Given the description of an element on the screen output the (x, y) to click on. 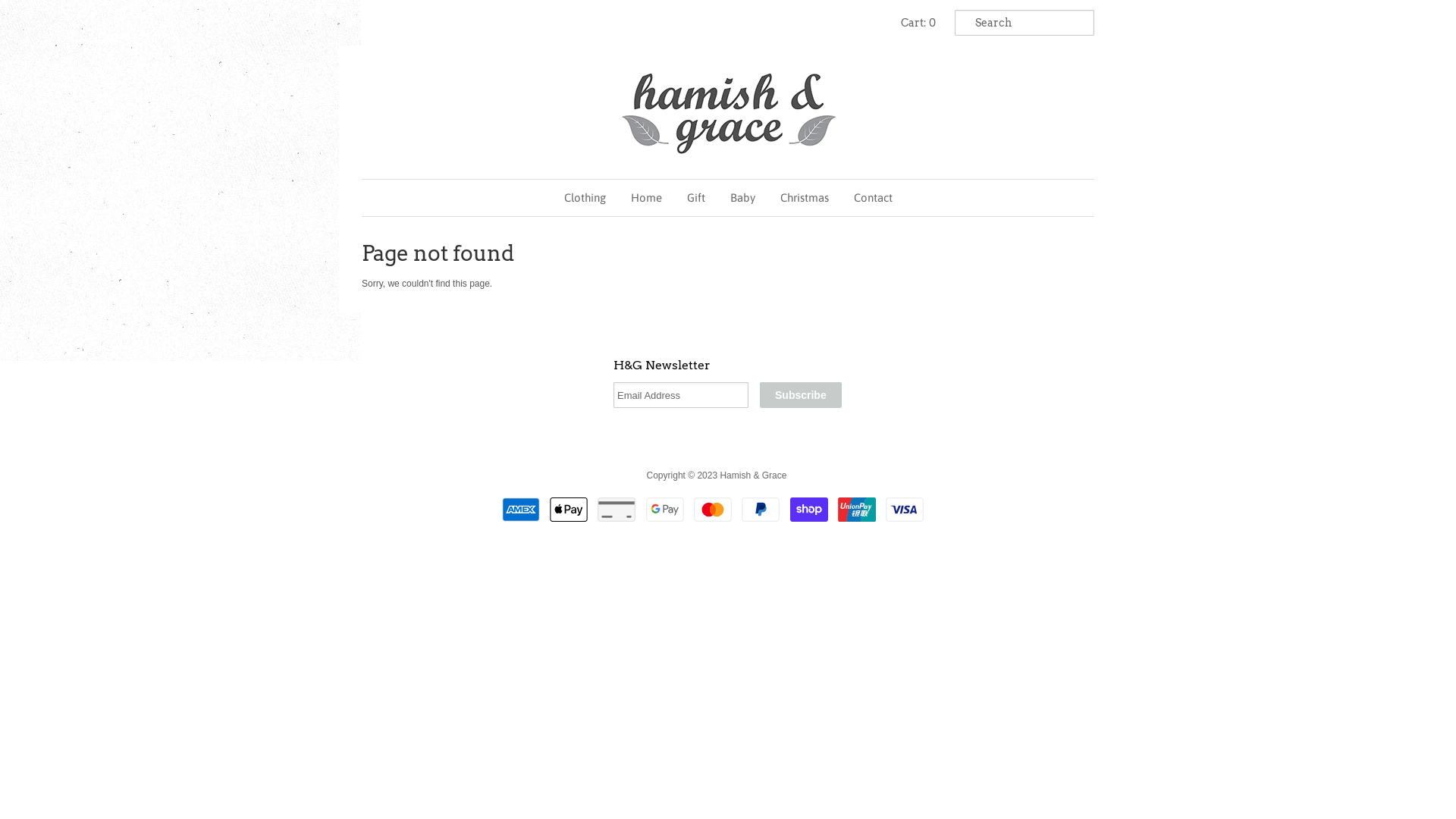
Subscribe Element type: text (800, 394)
Christmas Element type: text (804, 197)
Cart: 0 Element type: text (916, 22)
Gift Element type: text (694, 197)
Contact Element type: text (872, 197)
Home Element type: text (645, 197)
Clothing Element type: text (584, 197)
Baby Element type: text (742, 197)
